Given the description of an element on the screen output the (x, y) to click on. 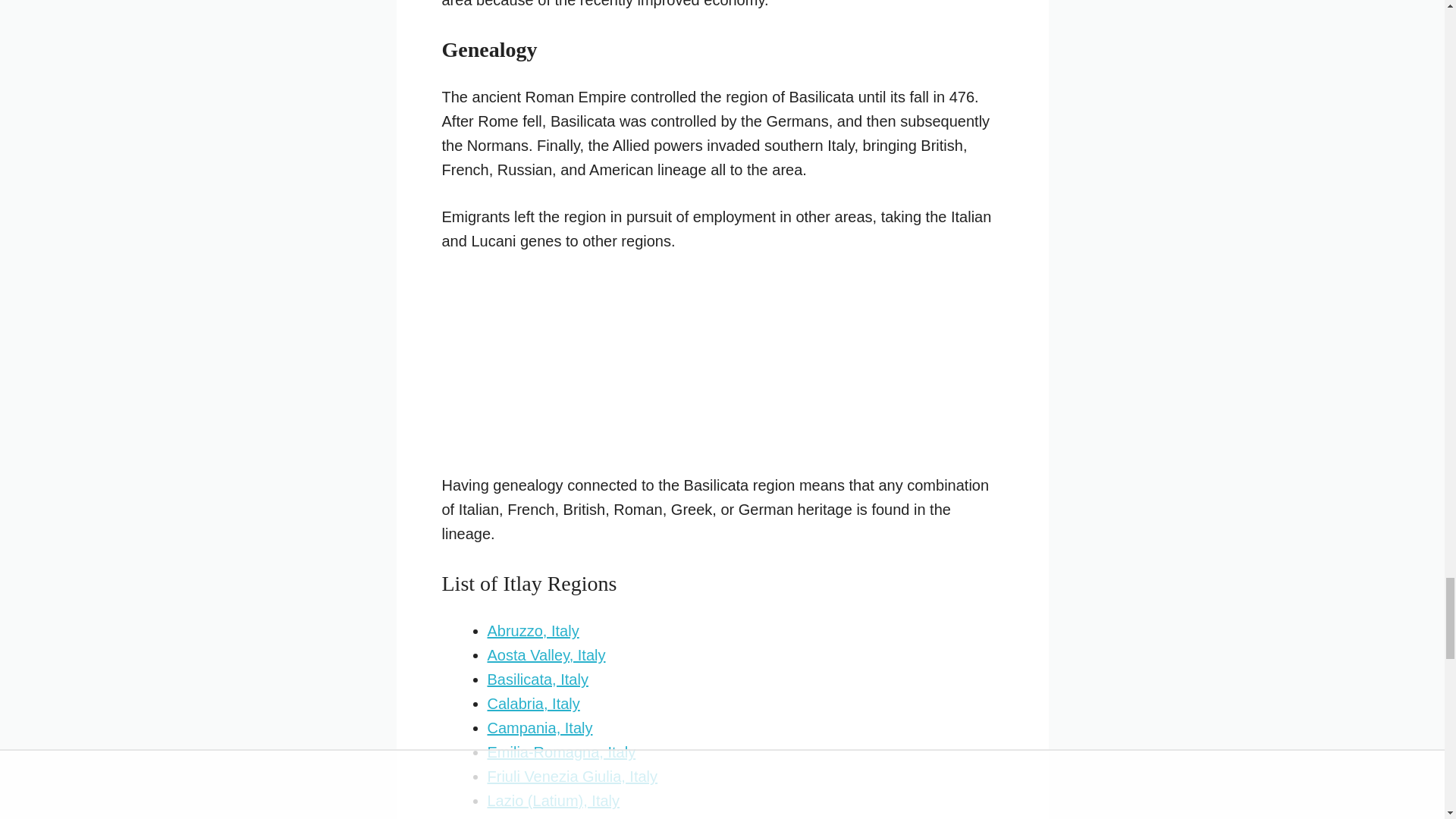
Abruzzo, Italy (532, 630)
Aosta Valley, Italy (545, 655)
Liguria, Italy (527, 817)
Basilicata, Italy (537, 678)
Campania, Italy (539, 727)
Friuli Venezia Giulia, Italy (572, 776)
Emilia-Romagna, Italy (560, 751)
Calabria, Italy (532, 703)
